Given the description of an element on the screen output the (x, y) to click on. 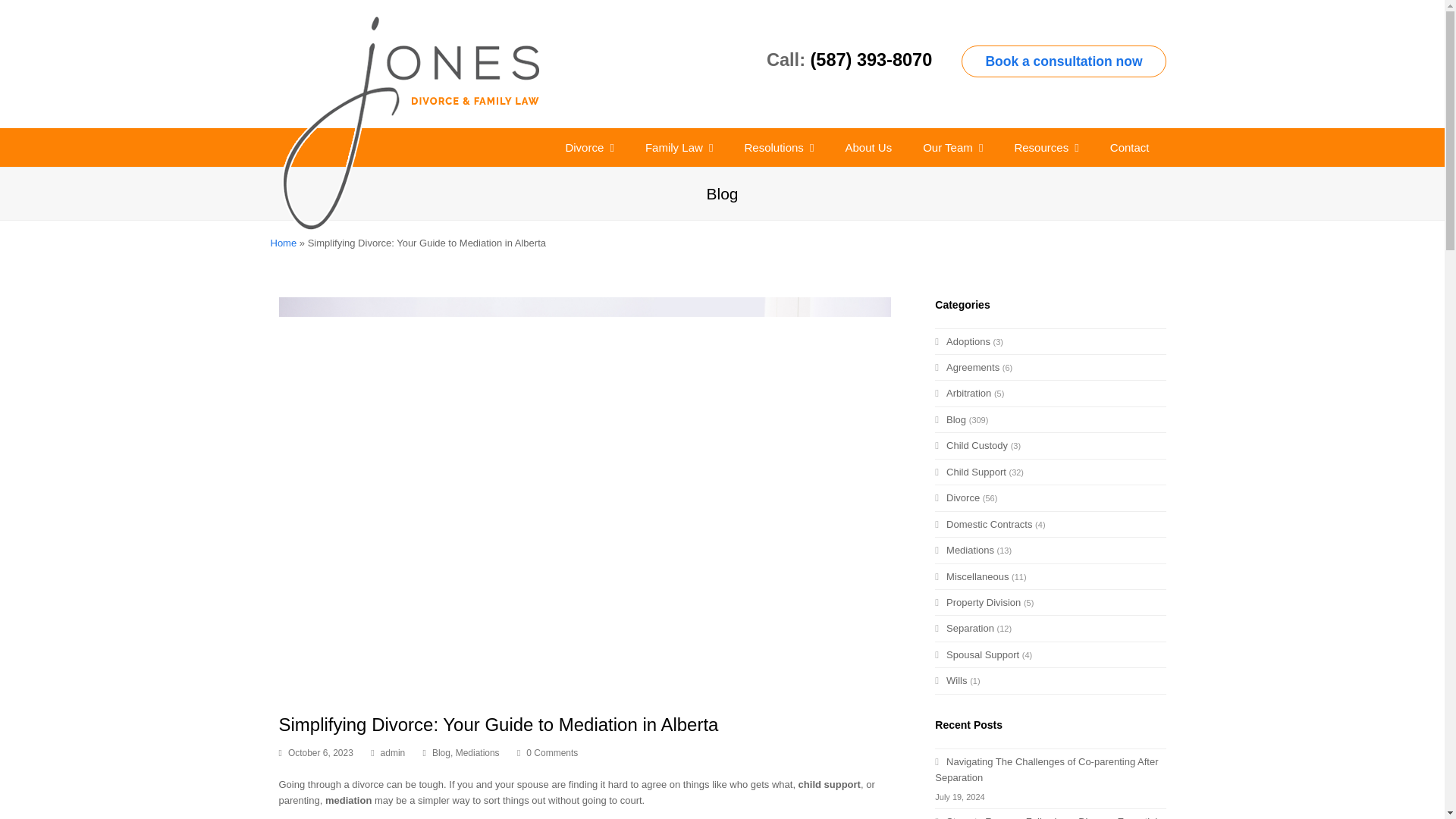
Posts by admin (393, 752)
0 Comments (547, 753)
Divorce (589, 147)
Book a consultation now (1063, 60)
Resolutions (778, 147)
Family Law (679, 147)
About Us (868, 147)
Our Team (952, 147)
